Given the description of an element on the screen output the (x, y) to click on. 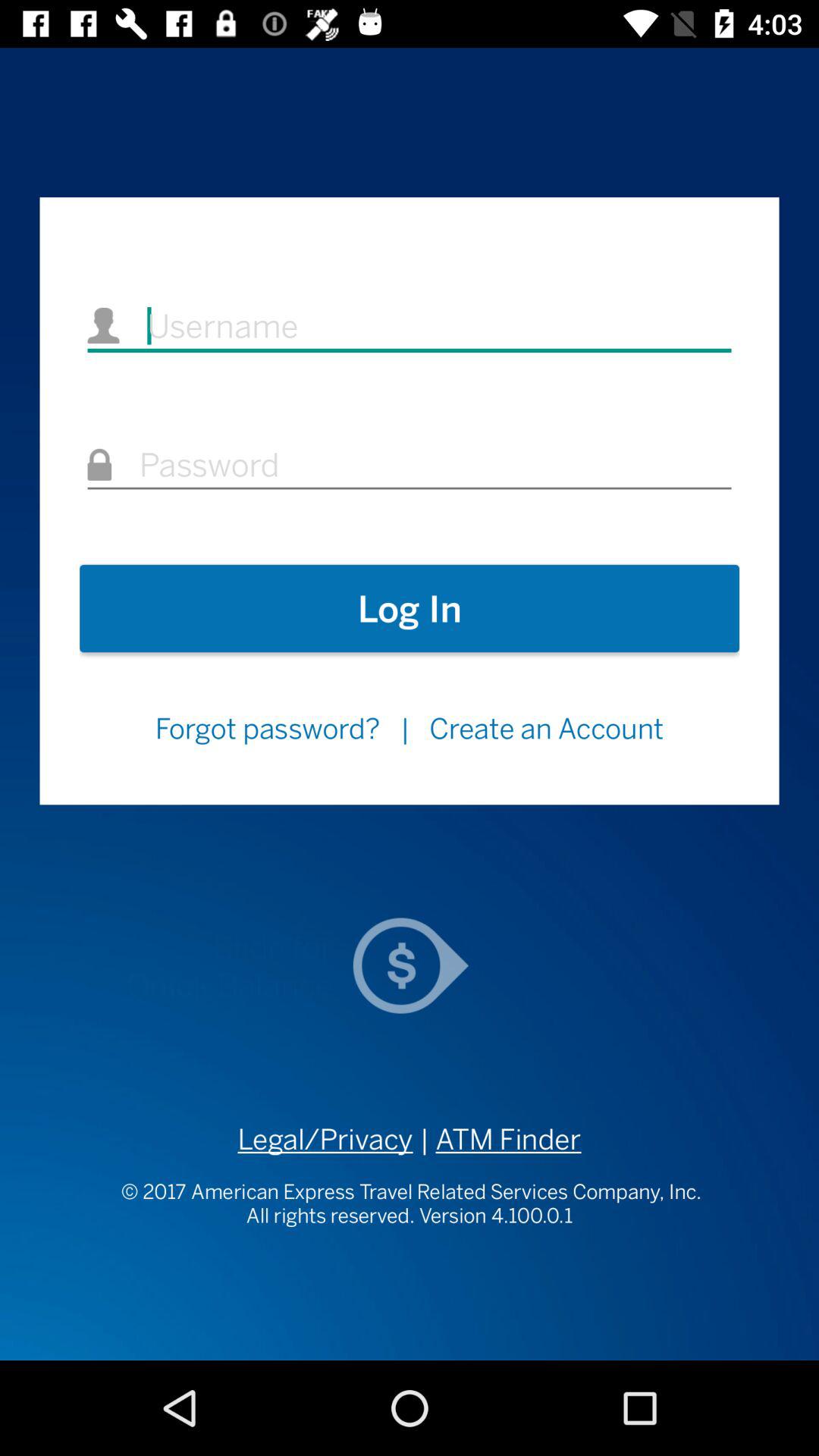
scroll to log in icon (409, 608)
